Given the description of an element on the screen output the (x, y) to click on. 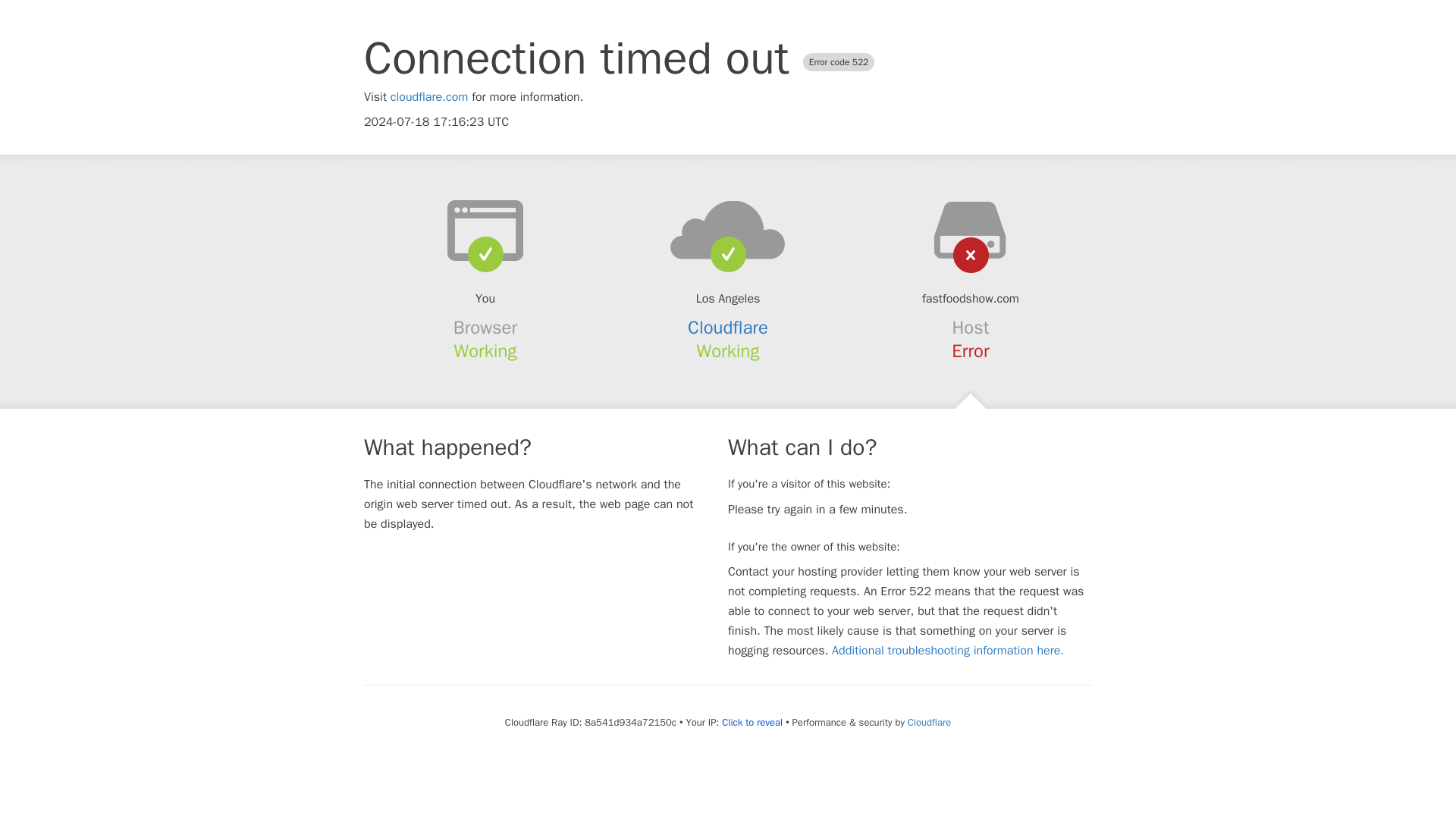
Additional troubleshooting information here. (947, 650)
Cloudflare (928, 721)
Cloudflare (727, 327)
cloudflare.com (429, 96)
Click to reveal (752, 722)
